Given the description of an element on the screen output the (x, y) to click on. 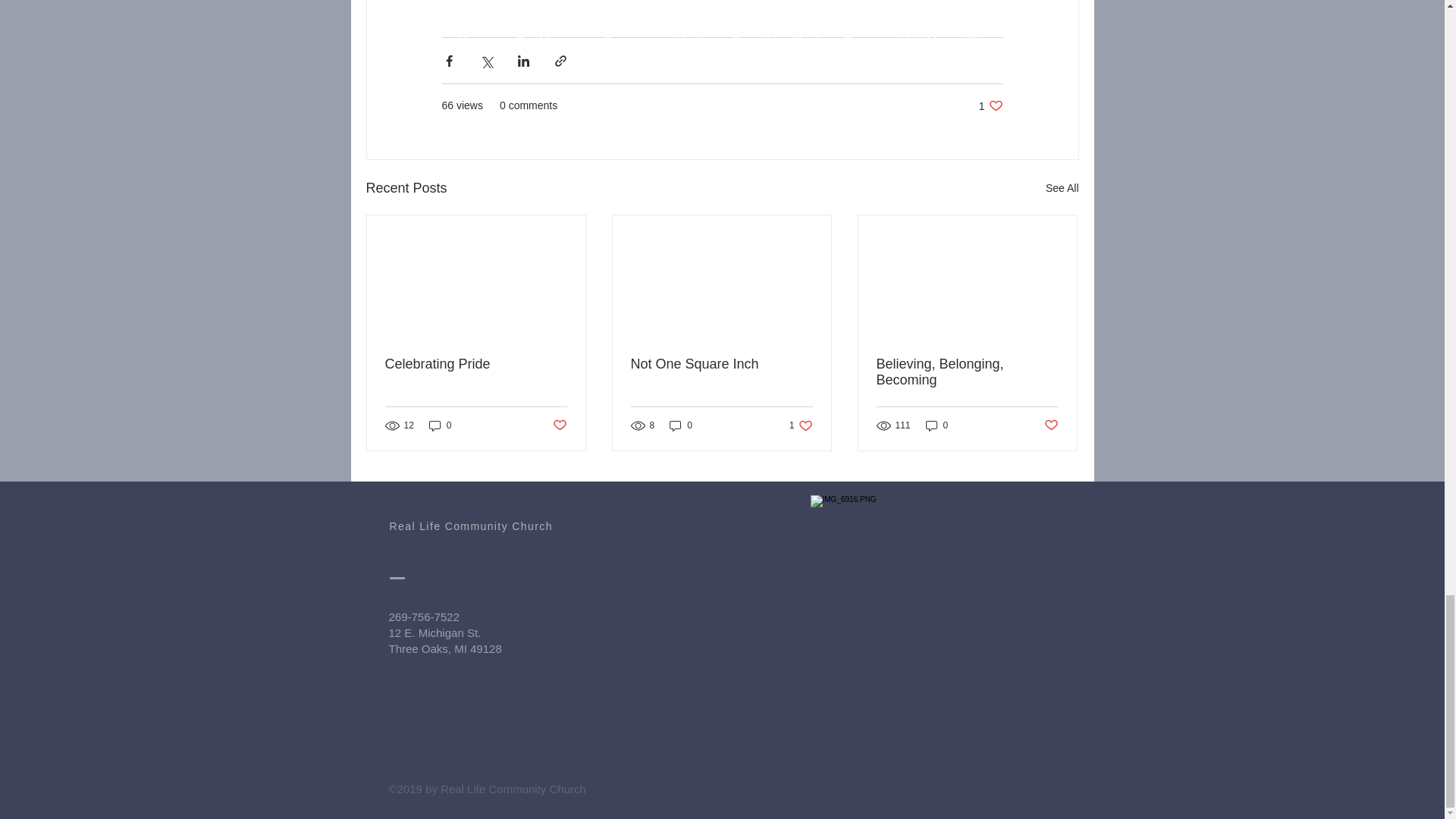
Believing, Belonging, Becoming (967, 372)
0 (681, 425)
See All (1061, 188)
Not One Square Inch (990, 105)
Post not marked as liked (721, 364)
Post not marked as liked (558, 424)
Celebrating Pride (1050, 424)
0 (476, 364)
0 (937, 425)
